Given the description of an element on the screen output the (x, y) to click on. 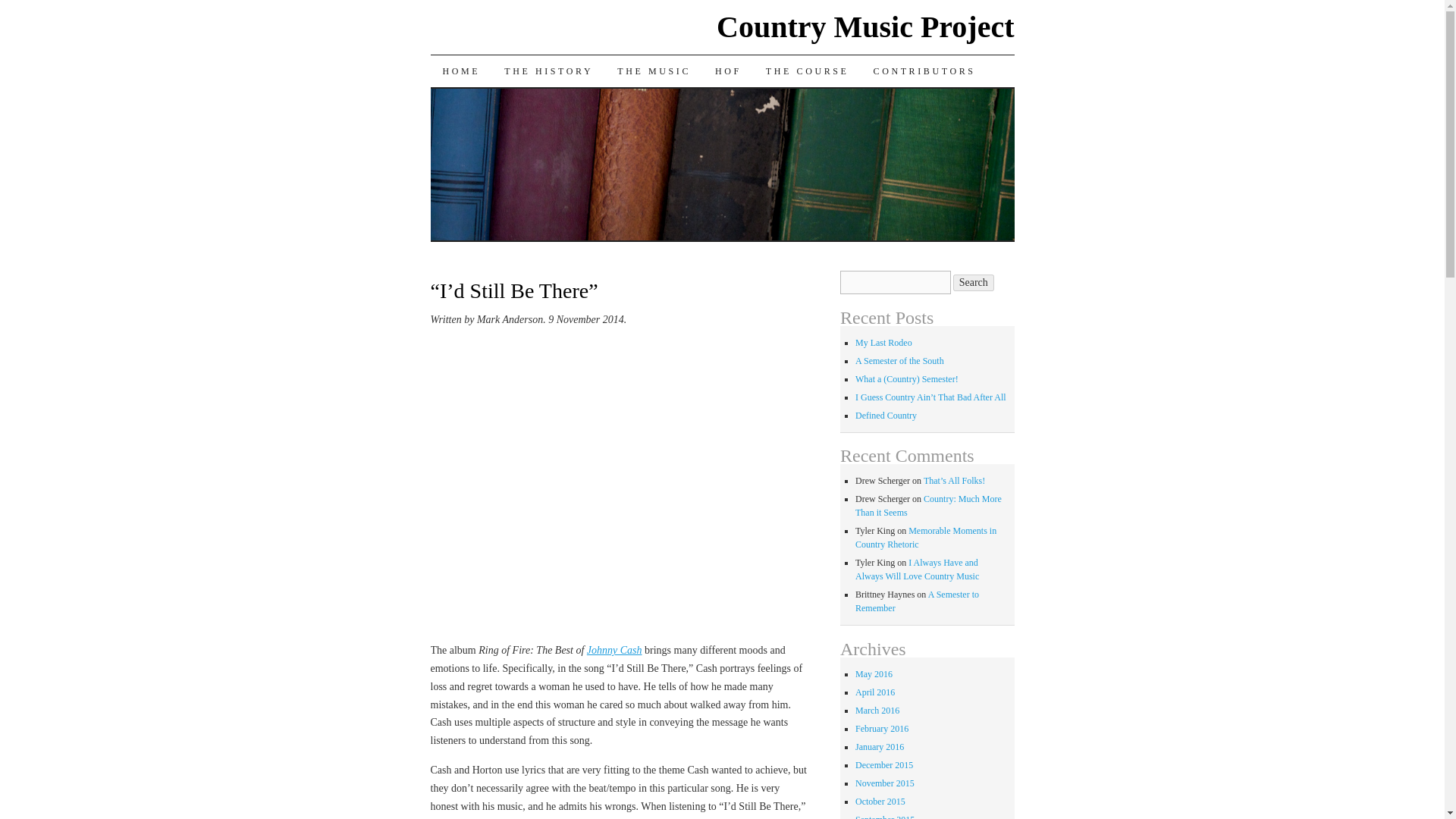
May 2016 (874, 674)
March 2016 (877, 710)
HOF (728, 70)
Country: Much More Than it Seems (928, 505)
THE HISTORY (548, 70)
CONTRIBUTORS (924, 70)
A Semester of the South (899, 360)
THE COURSE (807, 70)
A Semester to Remember (917, 600)
September 2015 (885, 816)
December 2015 (884, 765)
Search (973, 282)
February 2016 (882, 728)
November 2015 (885, 783)
I Always Have and Always Will Love Country Music (917, 569)
